Given the description of an element on the screen output the (x, y) to click on. 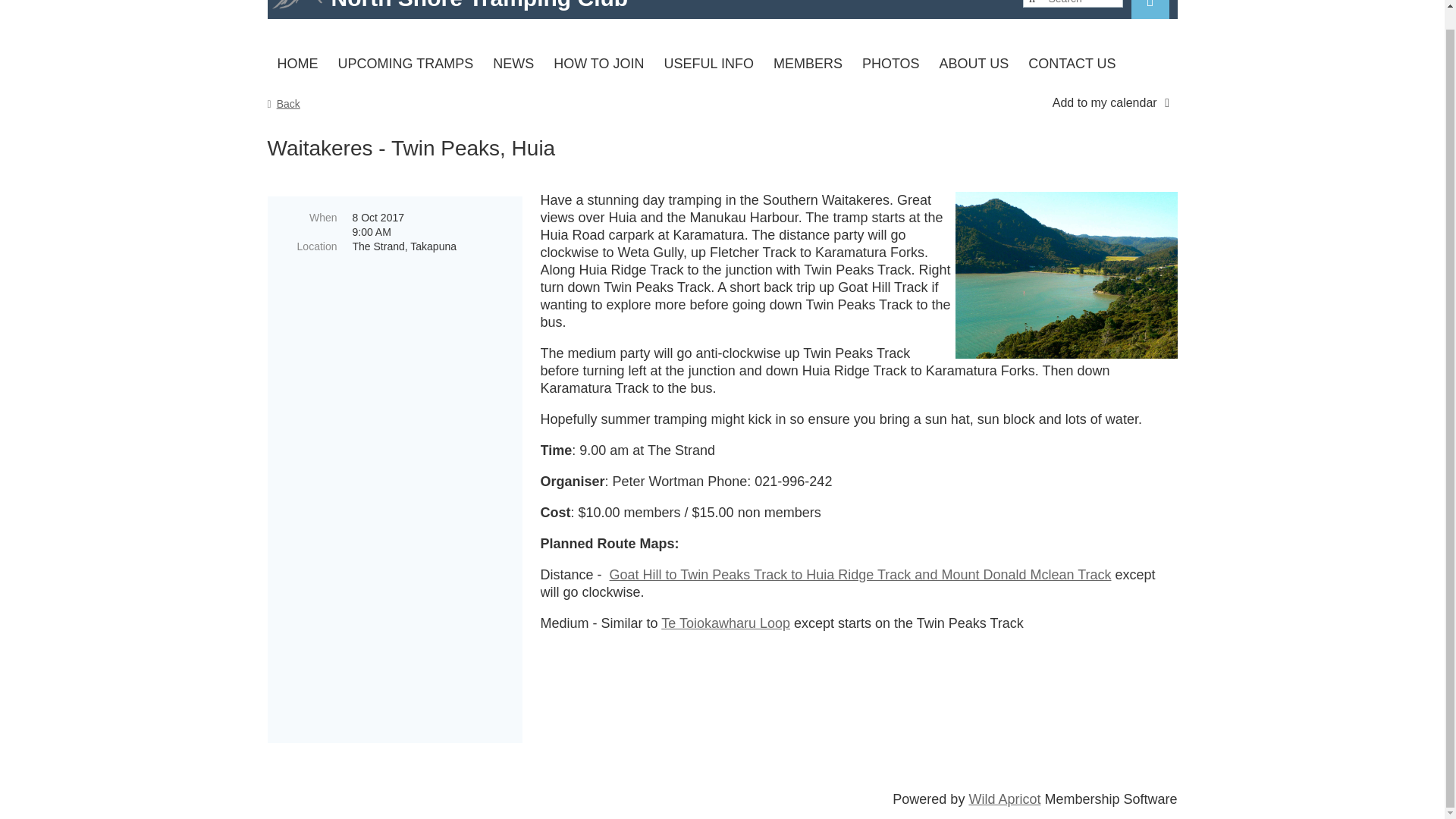
USEFUL INFO (707, 64)
Te Toiokawharu Loop (725, 622)
PHOTOS (890, 64)
HOW TO JOIN (598, 64)
NEWS (513, 64)
MEMBERS (806, 64)
UPCOMING TRAMPS (405, 64)
Log in (1150, 9)
HOME (296, 64)
Members (806, 64)
Useful Info (707, 64)
Upcoming Tramps (405, 64)
CONTACT US (1071, 64)
How to Join (598, 64)
